Given the description of an element on the screen output the (x, y) to click on. 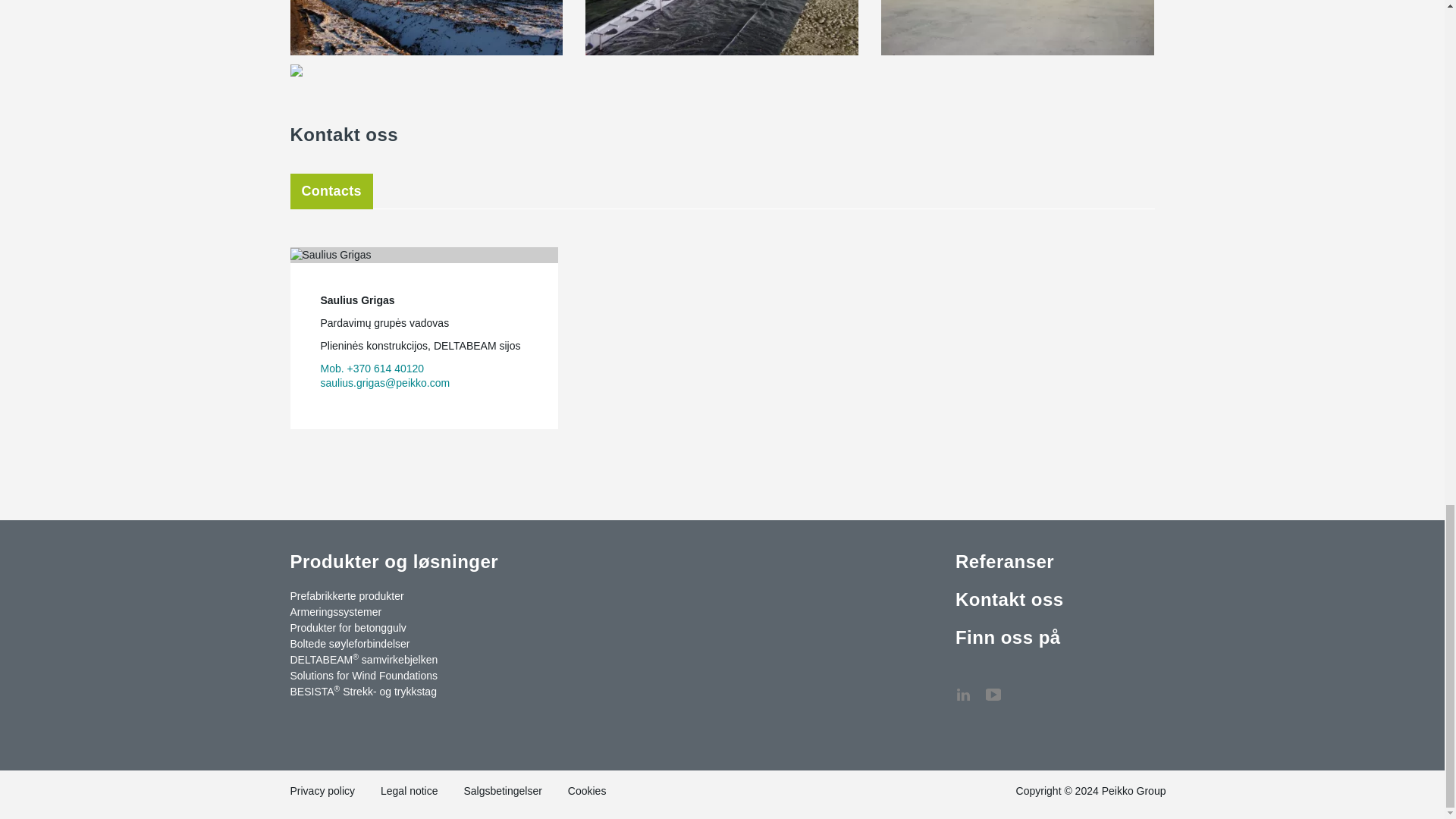
LinkedIn (963, 686)
YouTube (993, 686)
Kontakt oss (1023, 686)
